Given the description of an element on the screen output the (x, y) to click on. 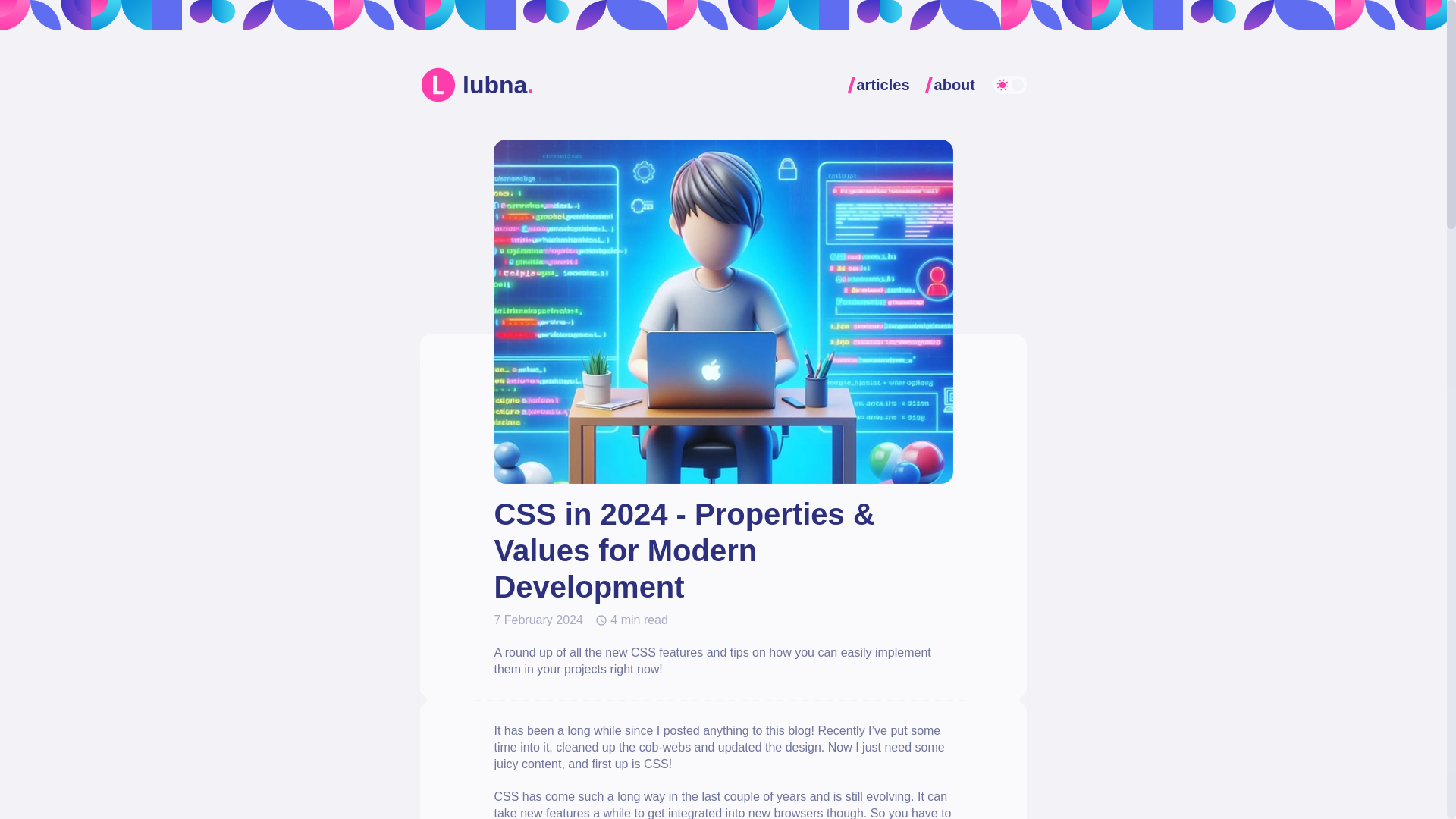
articles (882, 84)
about (954, 84)
lubna (477, 84)
